Given the description of an element on the screen output the (x, y) to click on. 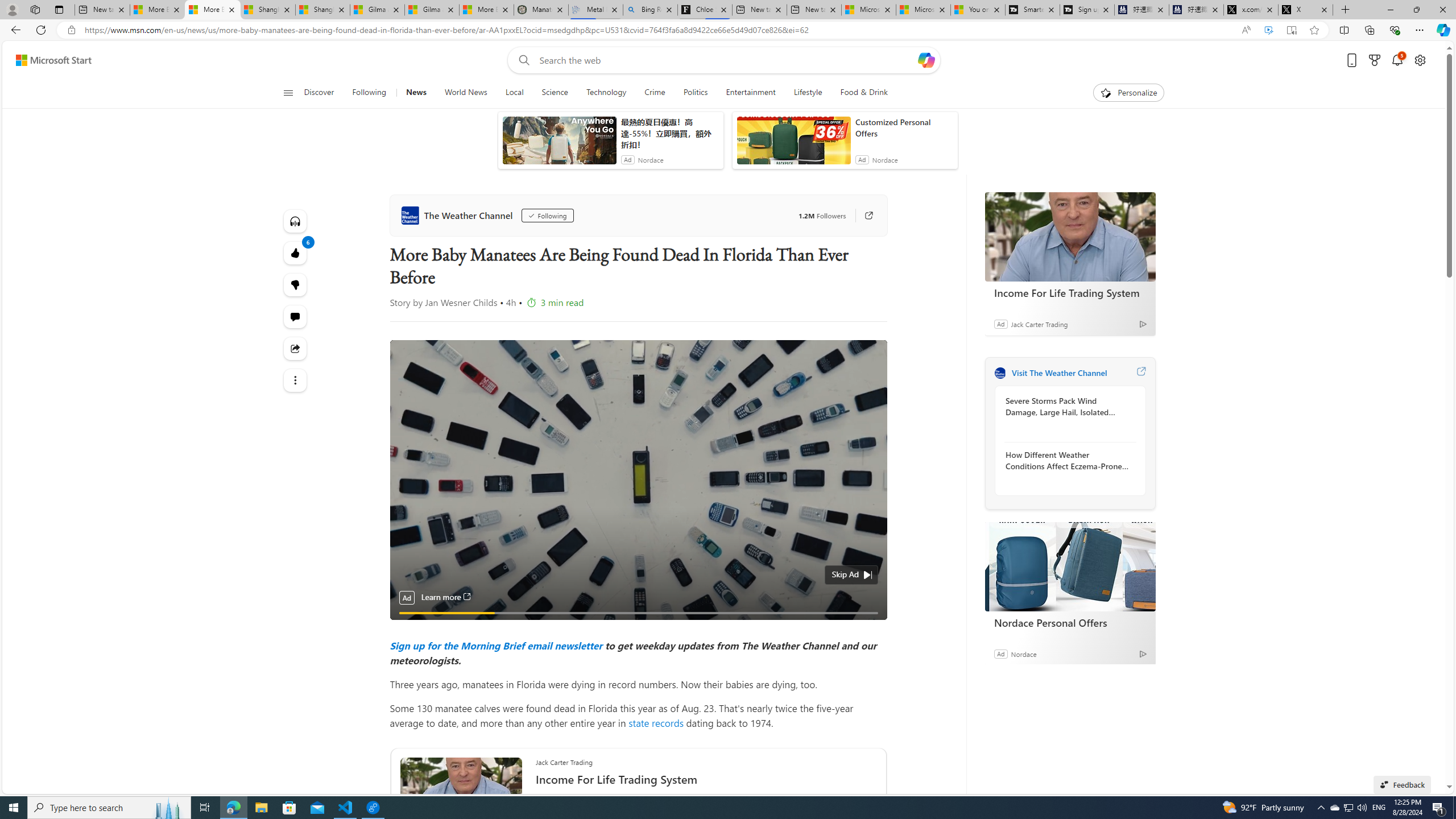
Microsoft Start Sports (869, 9)
Customized Personal Offers (903, 127)
Following (368, 92)
Visit The Weather Channel website (1140, 372)
To get missing image descriptions, open the context menu. (1105, 92)
video progress bar (637, 612)
Pause (406, 626)
Share this story (295, 348)
Listen to this article (295, 220)
